Given the description of an element on the screen output the (x, y) to click on. 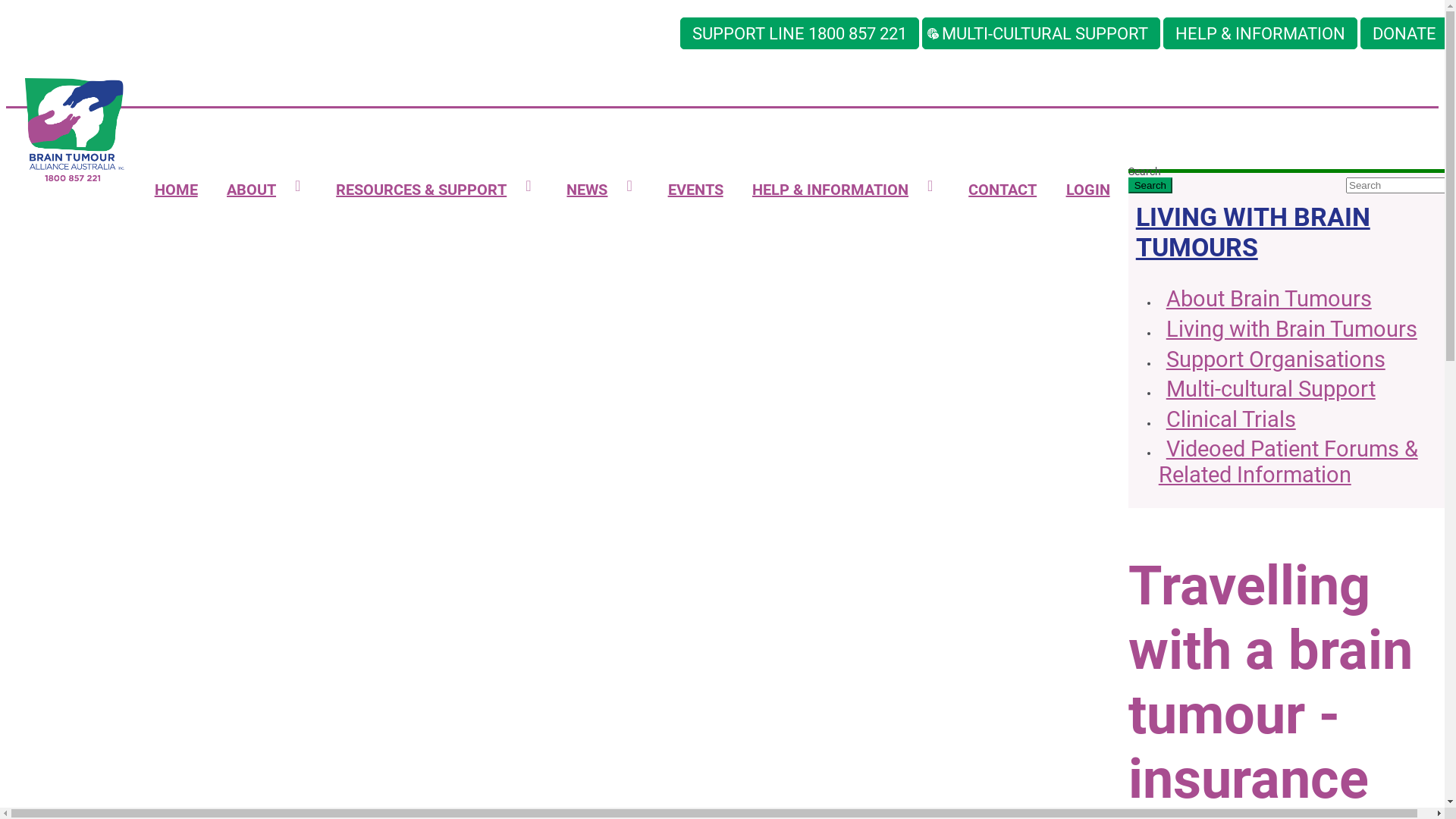
HELP & INFORMATION Element type: text (1260, 33)
Support Organisations Element type: text (1271, 360)
EVENTS Element type: text (694, 189)
Clinical Trials Element type: text (1226, 420)
Multi-cultural Support Element type: text (1266, 390)
DONATE Element type: text (1404, 33)
About Brain Tumours Element type: text (1264, 300)
LIVING WITH BRAIN TUMOURS Element type: text (1252, 231)
HOME Element type: text (175, 189)
Enter the terms you wish to search for. Element type: hover (1397, 185)
SUPPORT LINE 1800 857 221 Element type: text (799, 33)
Search Element type: text (1150, 185)
LOGIN Element type: text (1087, 189)
CONTACT Element type: text (1002, 189)
MULTI-CULTURAL SUPPORT Element type: text (1041, 33)
Skip to main content Element type: text (6, 6)
Living with Brain Tumours Element type: text (1287, 330)
Videoed Patient Forums & Related Information Element type: text (1288, 463)
